Given the description of an element on the screen output the (x, y) to click on. 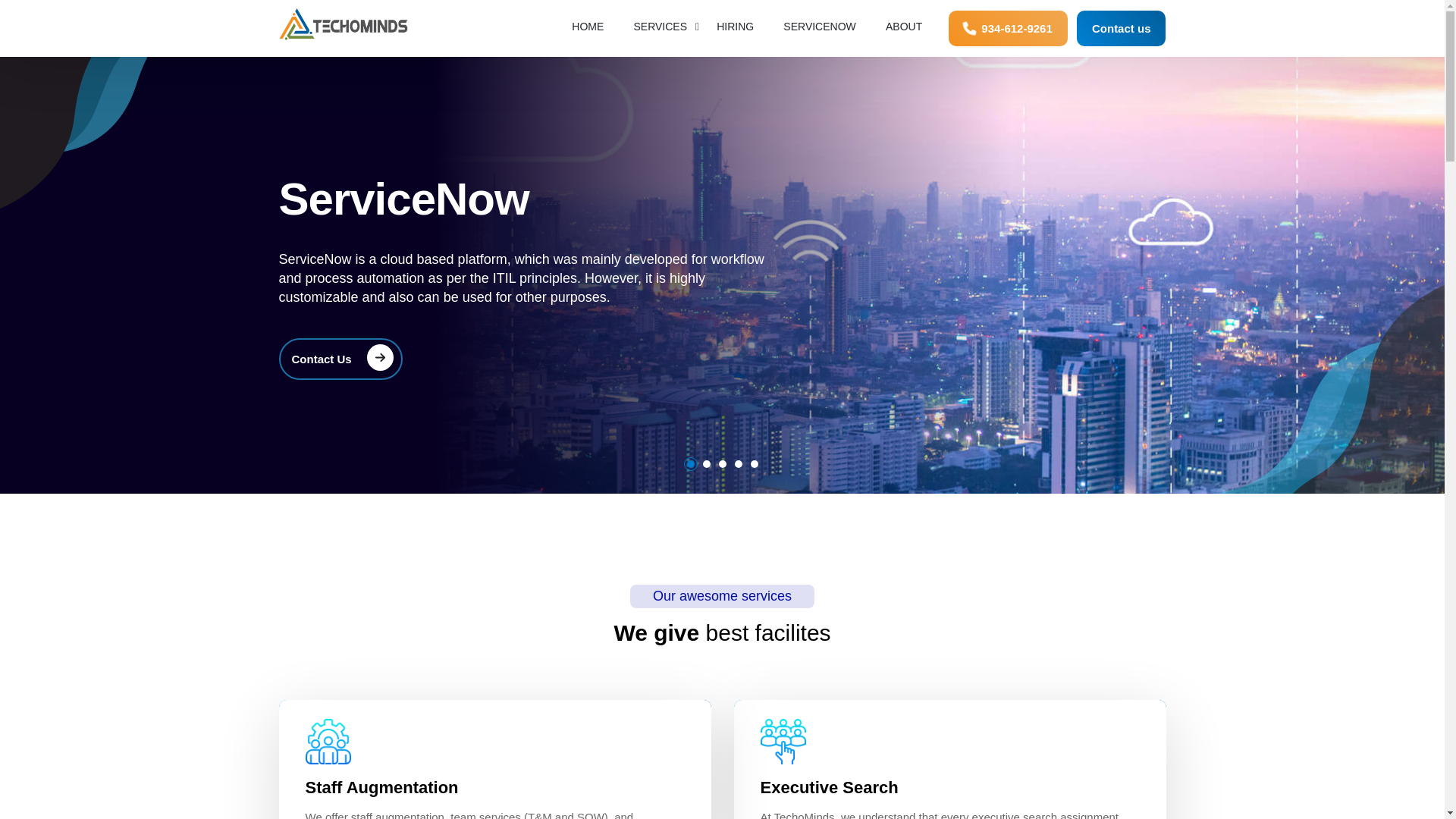
SERVICES (660, 37)
934-612-9261 (1008, 27)
Contact us (1121, 27)
SERVICENOW (819, 37)
Contact Us (341, 359)
2 (705, 463)
1 (690, 463)
5 (754, 463)
HIRING (735, 37)
3 (722, 463)
